Given the description of an element on the screen output the (x, y) to click on. 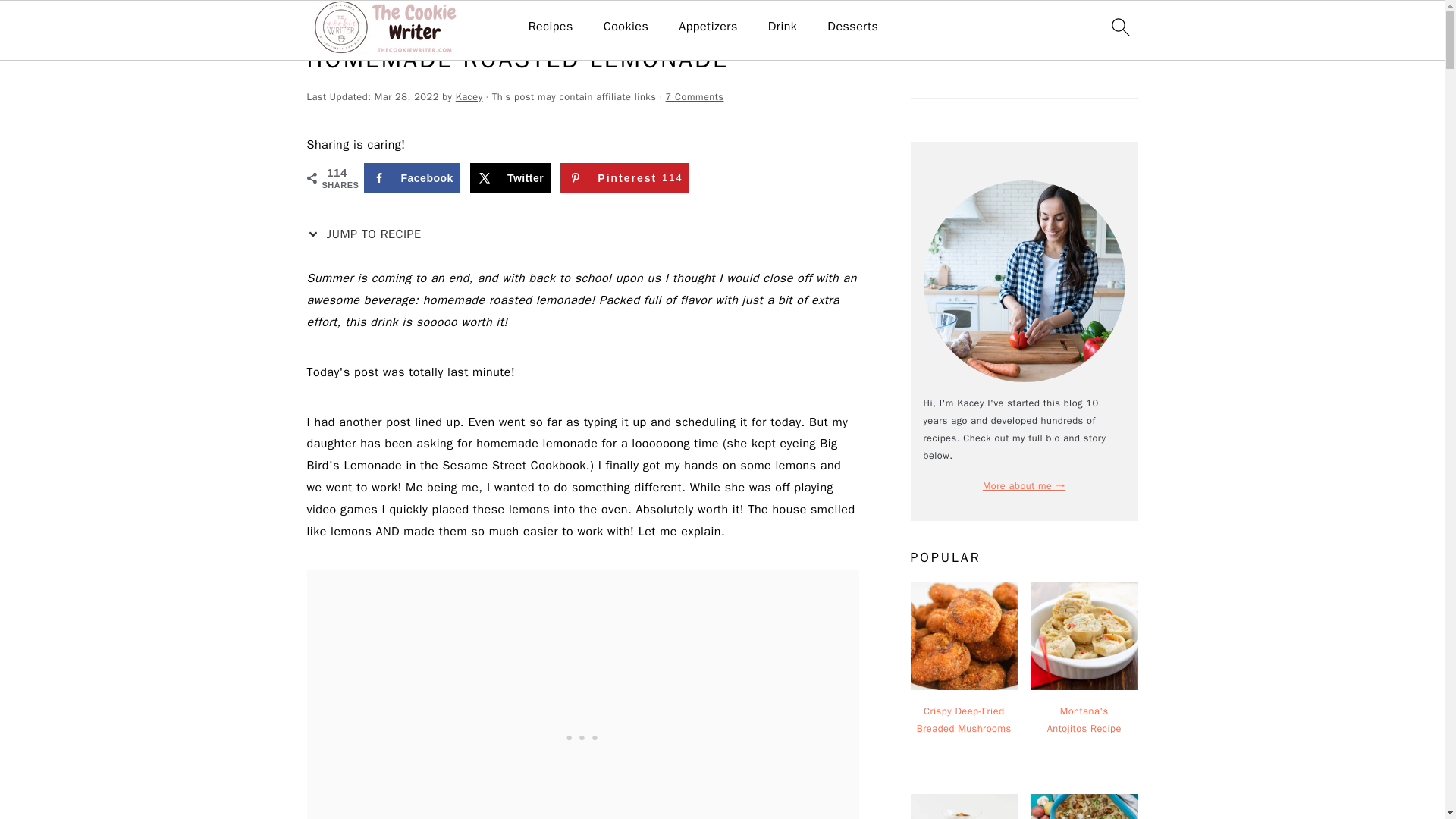
Home (319, 23)
Share on X (510, 177)
Desserts (852, 26)
Twitter (510, 177)
Share on Facebook (412, 177)
7 Comments (694, 96)
Save to Pinterest (624, 177)
Cookies (625, 26)
search icon (624, 177)
JUMP TO RECIPE (1119, 26)
Drink (366, 234)
Kacey (782, 26)
Facebook (469, 96)
